Given the description of an element on the screen output the (x, y) to click on. 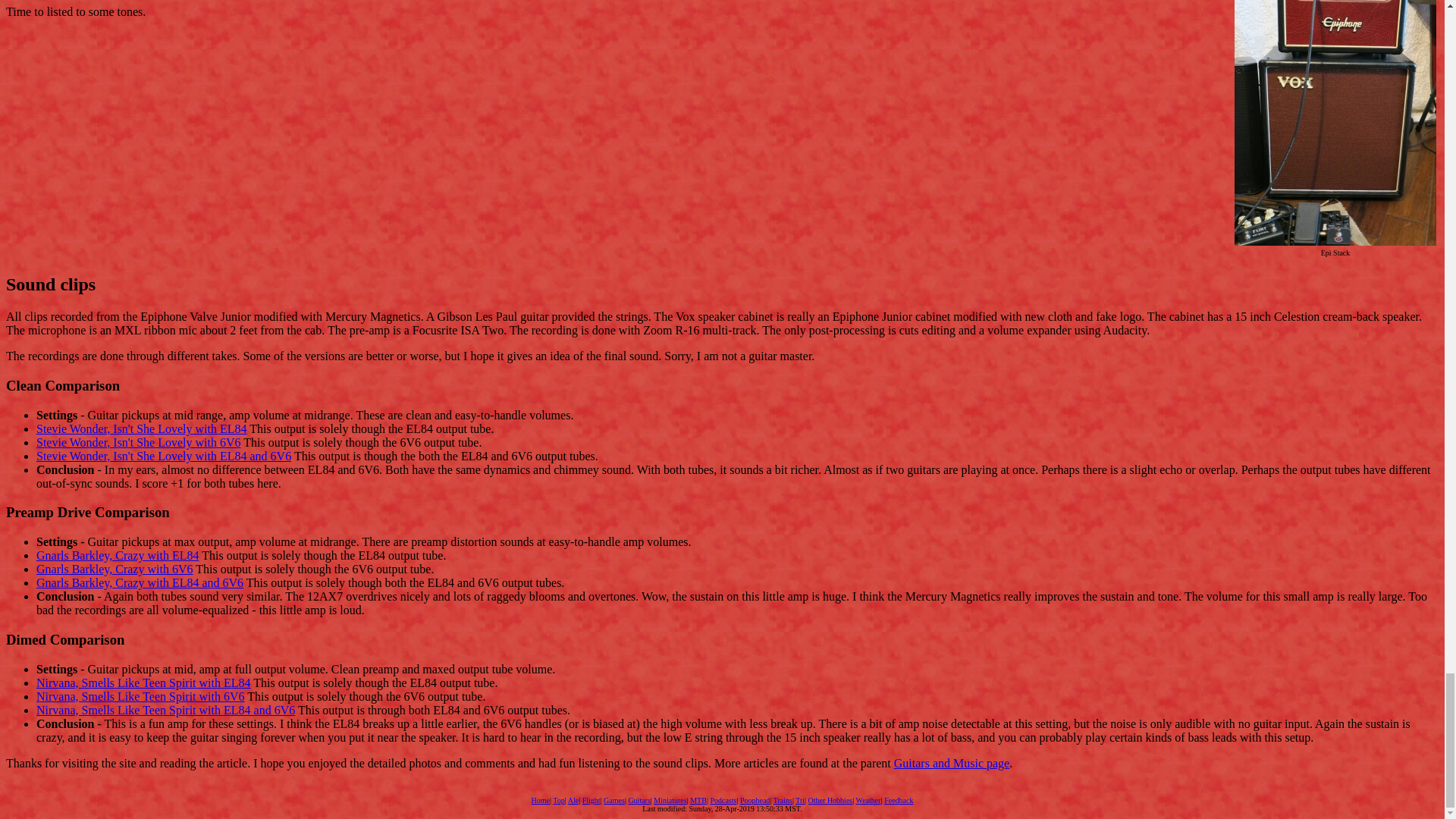
Guitars and Music page (951, 762)
Top (558, 800)
Stevie Wonder, Isn't She Lovely with EL84 and 6V6 (163, 455)
Ale (572, 800)
Nirvana, Smells Like Teen Spirit with EL84 (143, 682)
Flight (590, 800)
Home (540, 800)
Nirvana, Smells Like Teen Spirit with EL84 and 6V6 (165, 709)
Gnarls Barkley, Crazy with EL84 (117, 554)
Gnarls Barkley, Crazy with 6V6 (114, 568)
